Given the description of an element on the screen output the (x, y) to click on. 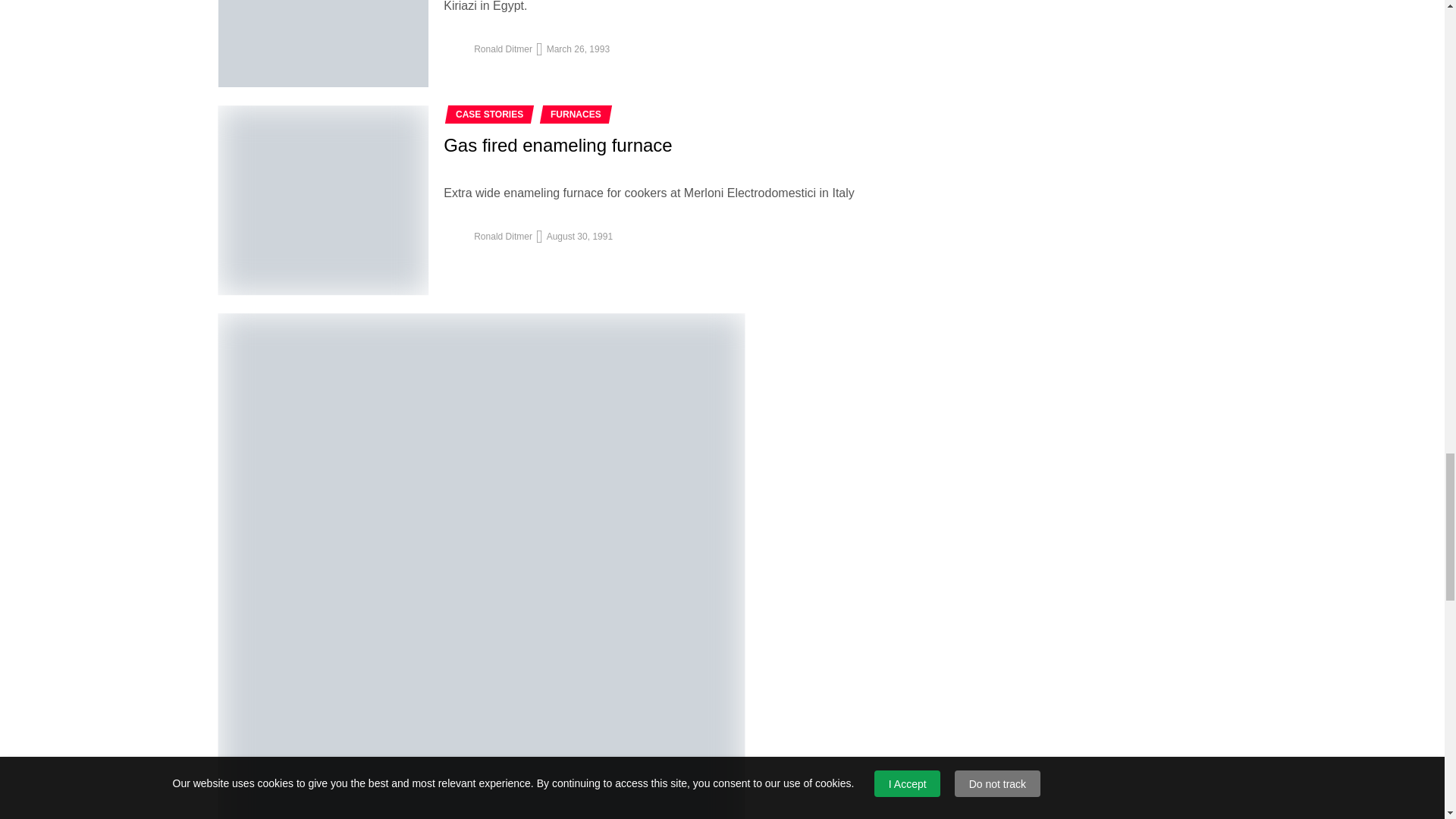
Gas fired enameling furnace (323, 199)
Powder enameling plant for cookers (323, 43)
